Given the description of an element on the screen output the (x, y) to click on. 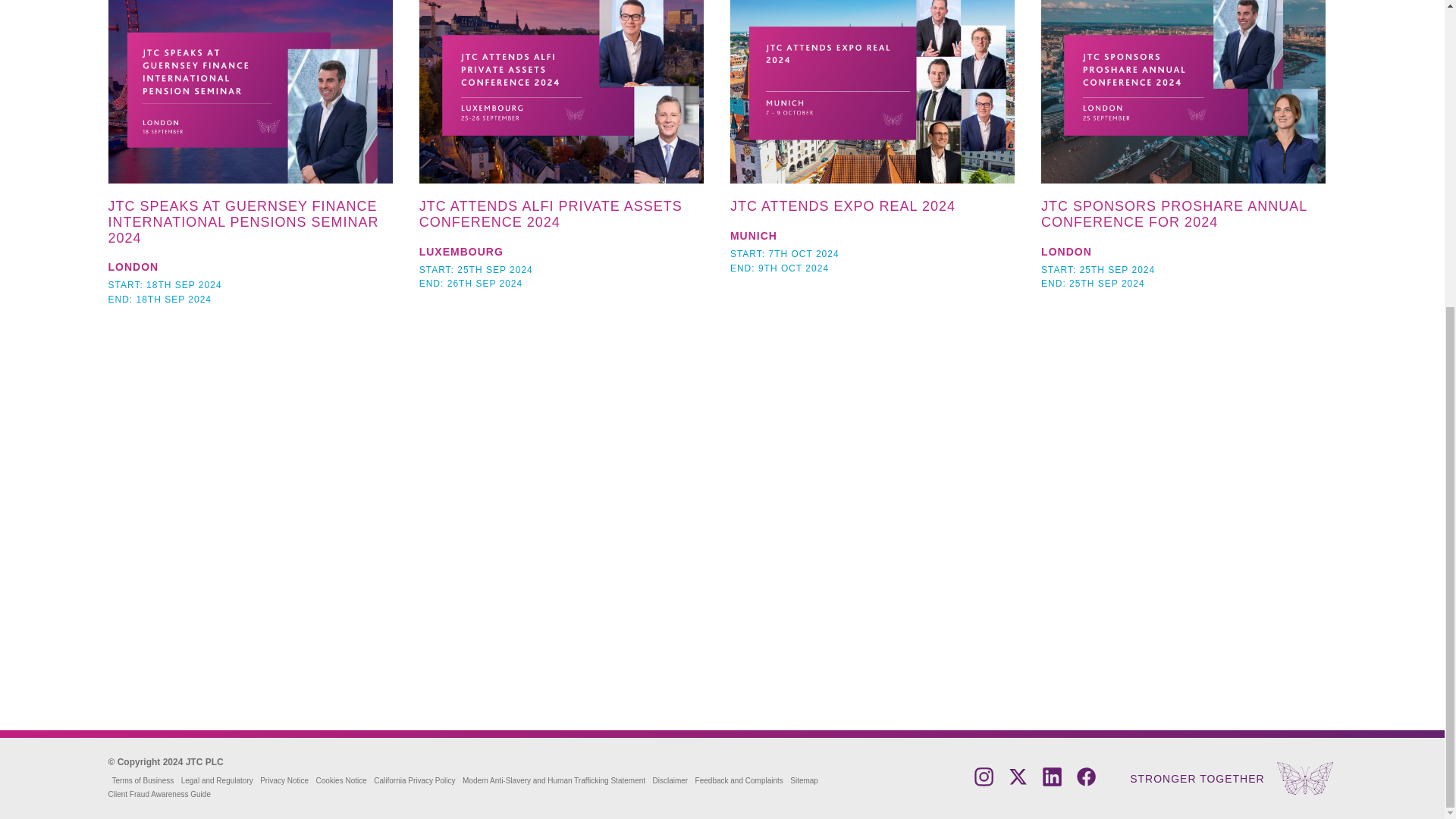
Facebook profile (1086, 781)
Instagram profile (983, 781)
Linkedin profile (1051, 781)
Twitter profile (1018, 781)
